Given the description of an element on the screen output the (x, y) to click on. 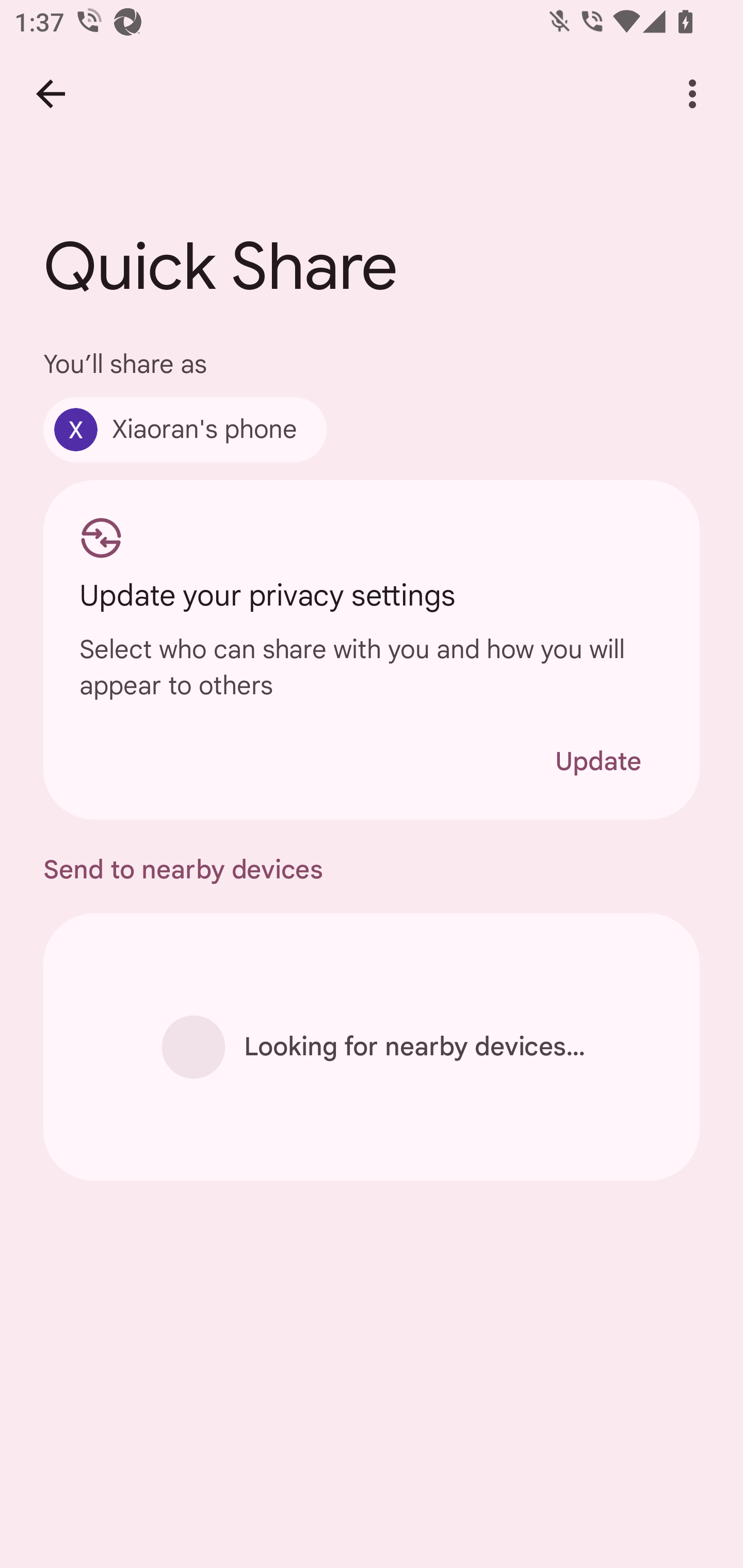
Back (50, 93)
More (692, 93)
Xiaoran's phone (184, 429)
Update (598, 761)
